Given the description of an element on the screen output the (x, y) to click on. 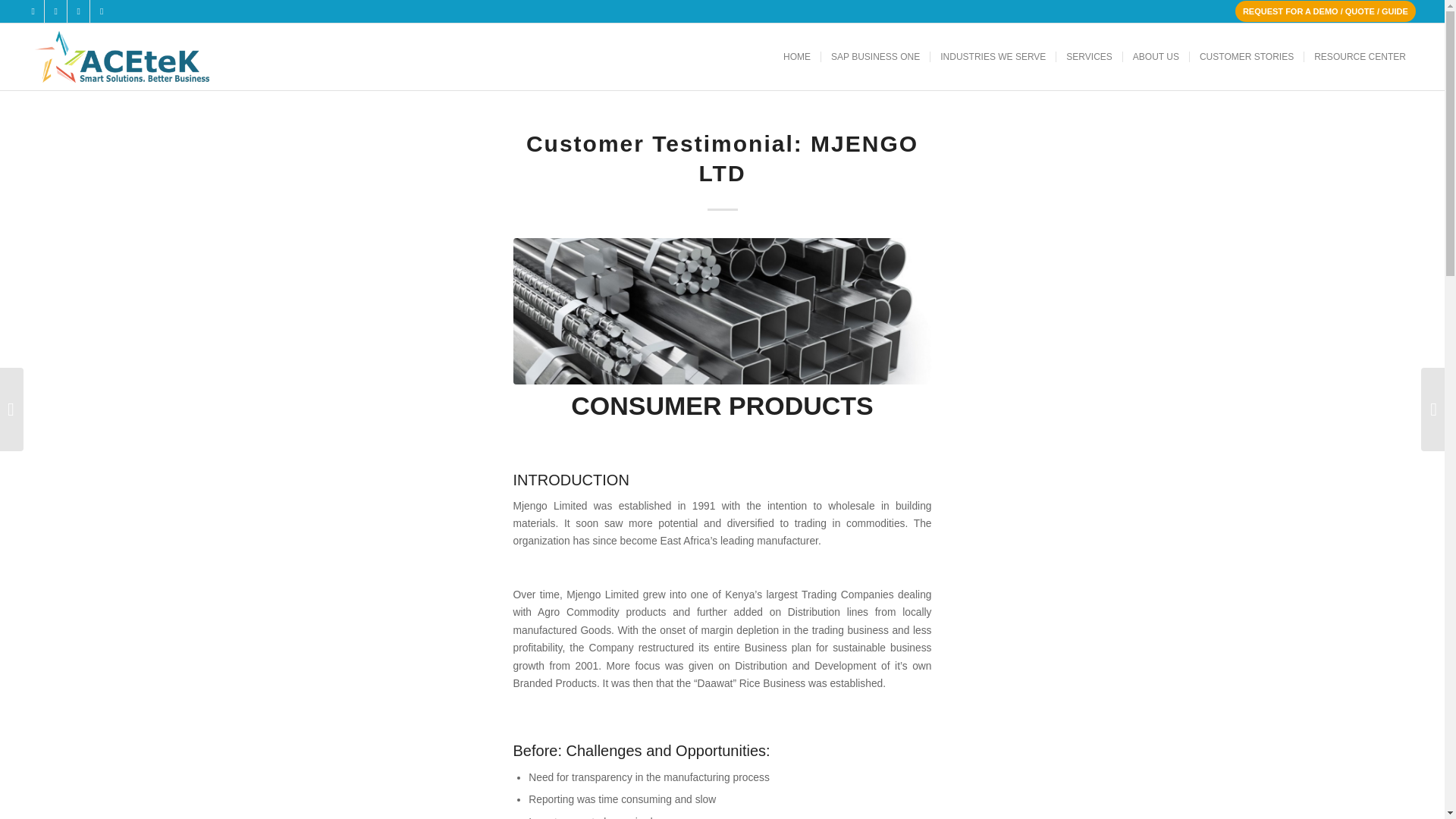
X (55, 11)
E36B561C-A721-4BEA-A4CB-21C9169A184F (721, 311)
Facebook (32, 11)
Youtube (101, 11)
SAP BUSINESS ONE (875, 56)
INDUSTRIES WE SERVE (992, 56)
LinkedIn (77, 11)
